Given the description of an element on the screen output the (x, y) to click on. 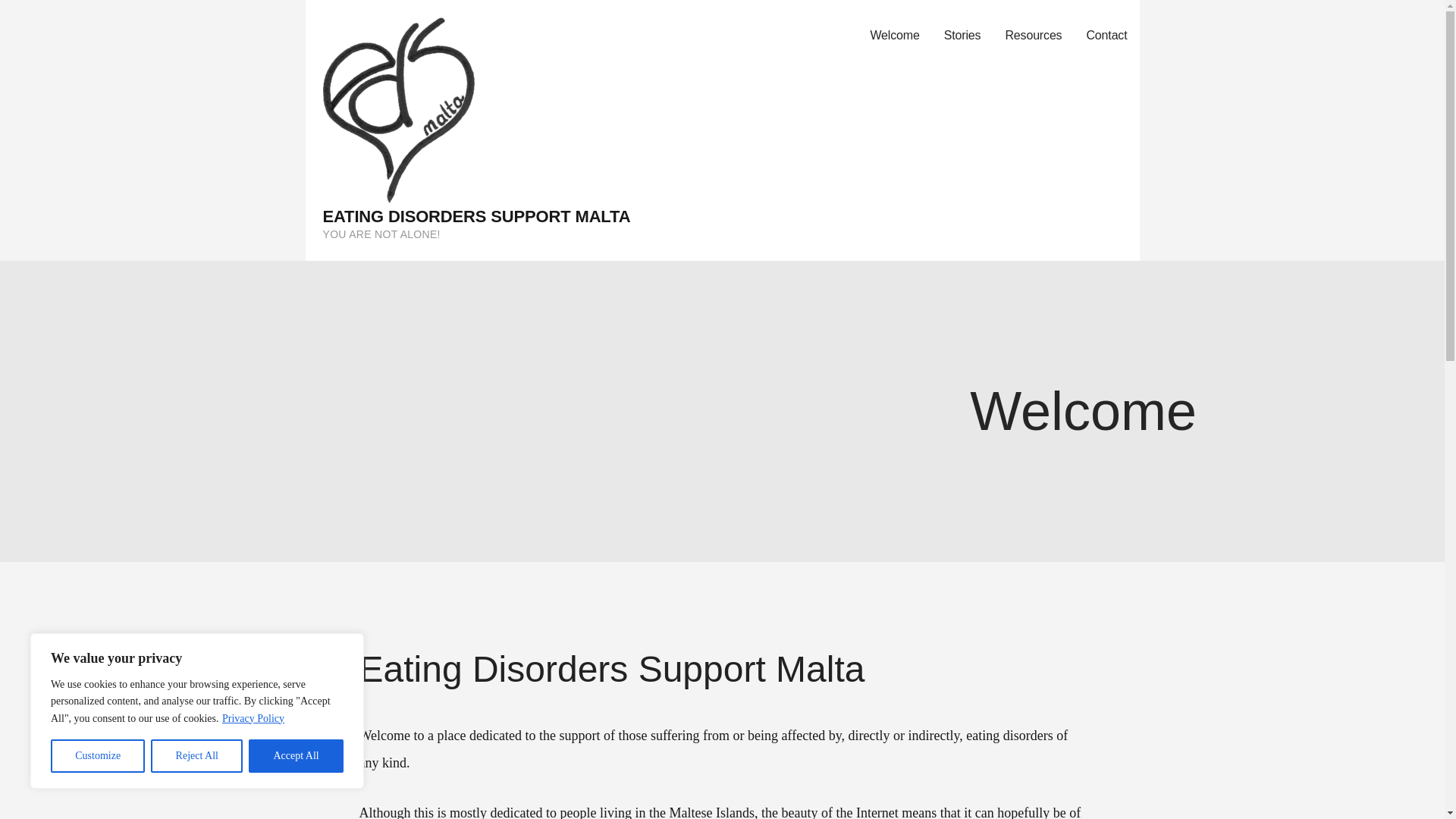
Reject All (197, 756)
Welcome (894, 36)
EATING DISORDERS SUPPORT MALTA (476, 216)
Contact (1106, 36)
Privacy Policy (253, 717)
Accept All (295, 756)
Customize (97, 756)
Resources (1033, 36)
